Given the description of an element on the screen output the (x, y) to click on. 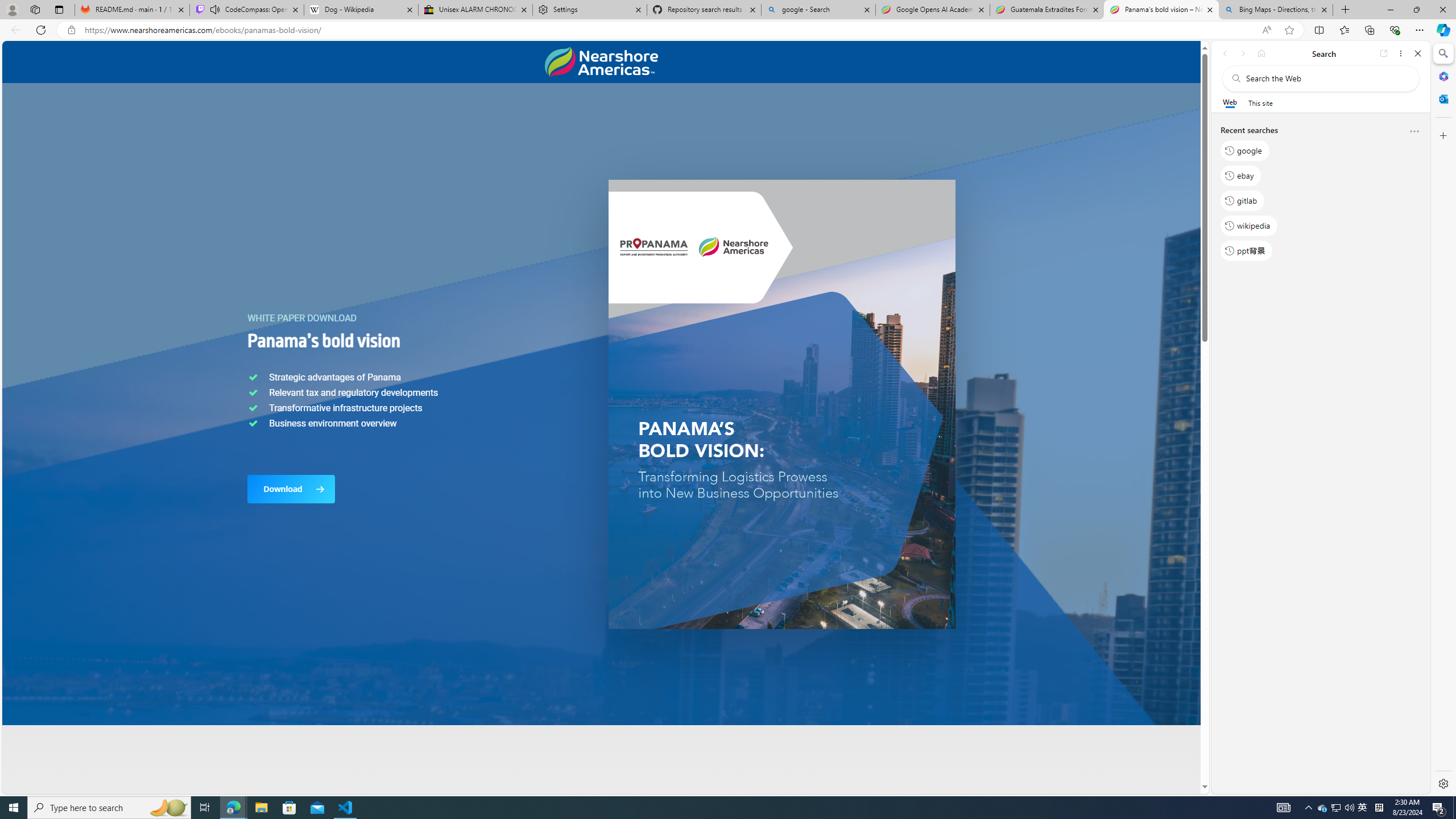
gitlab (1242, 200)
New Tab (1346, 9)
google - Search (818, 9)
Settings and more (Alt+F) (1419, 29)
Outlook (1442, 98)
Microsoft 365 (1442, 76)
Favorites (1344, 29)
Close tab (1324, 9)
Refresh (40, 29)
wikipedia (1249, 225)
Open link in new tab (1383, 53)
